Given the description of an element on the screen output the (x, y) to click on. 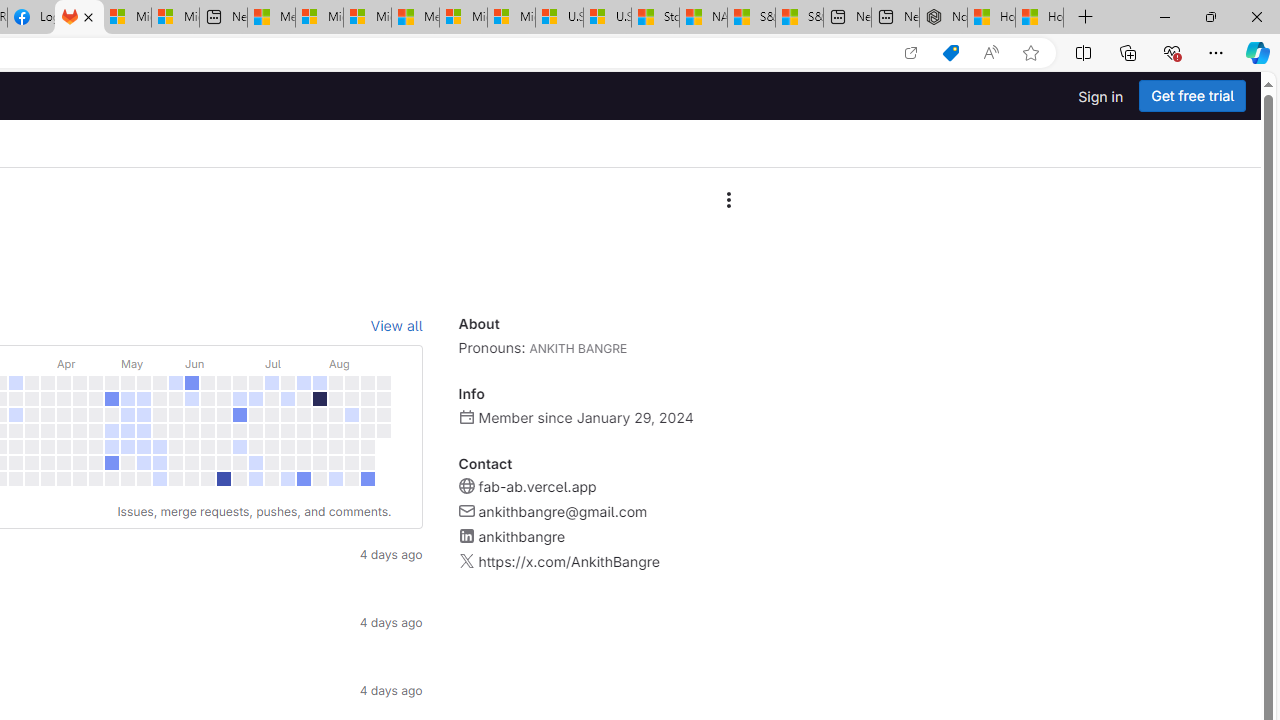
ankithbangre@gmail.com (562, 511)
https://x.com/AnkithBangre (568, 561)
